Given the description of an element on the screen output the (x, y) to click on. 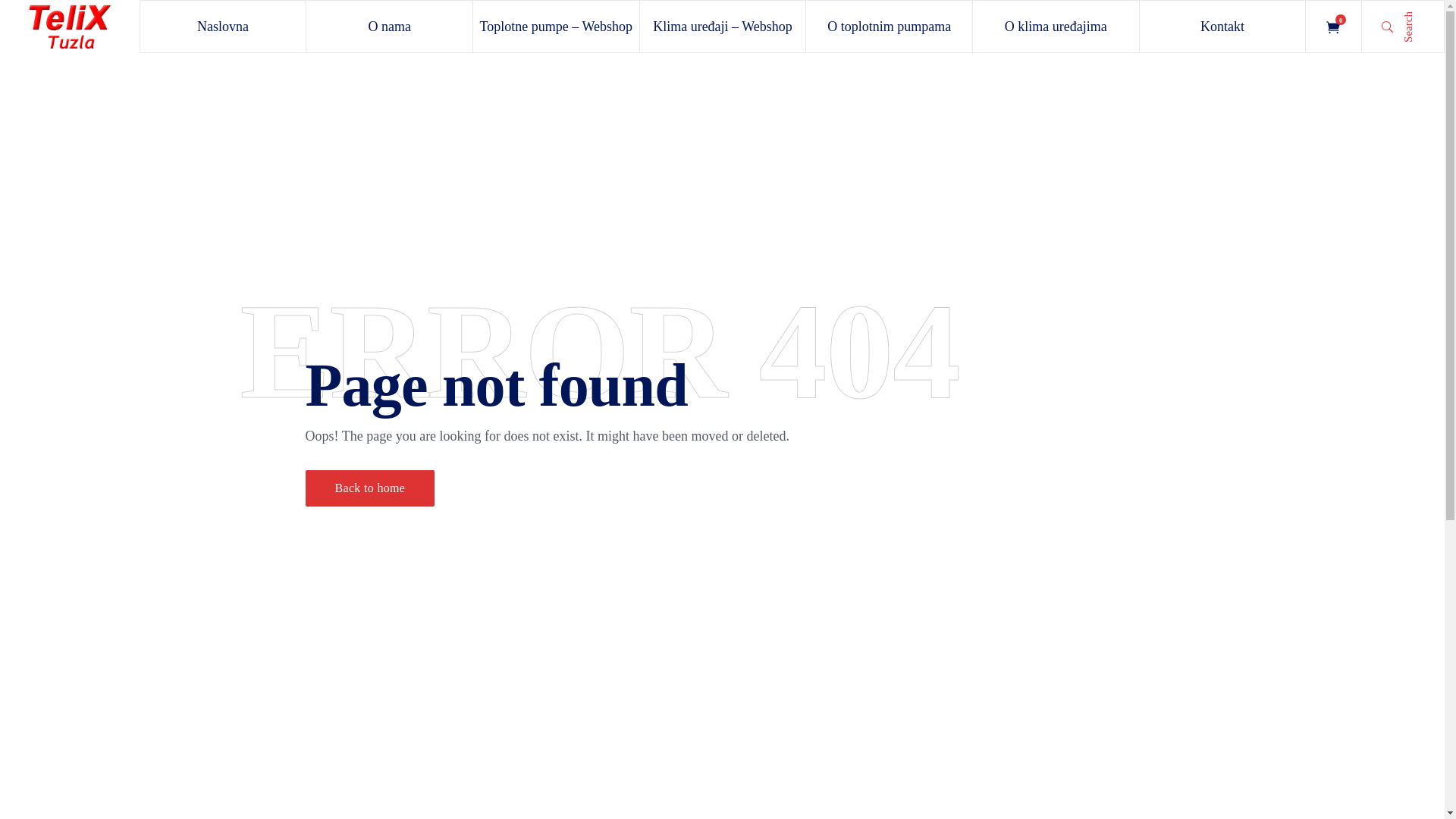
Search Element type: text (1402, 26)
Kontakt Element type: text (1222, 26)
O nama Element type: text (389, 26)
Back to home Element type: text (369, 488)
O toplotnim pumpama Element type: text (889, 26)
Naslovna Element type: text (223, 26)
0 Element type: text (1332, 26)
